Given the description of an element on the screen output the (x, y) to click on. 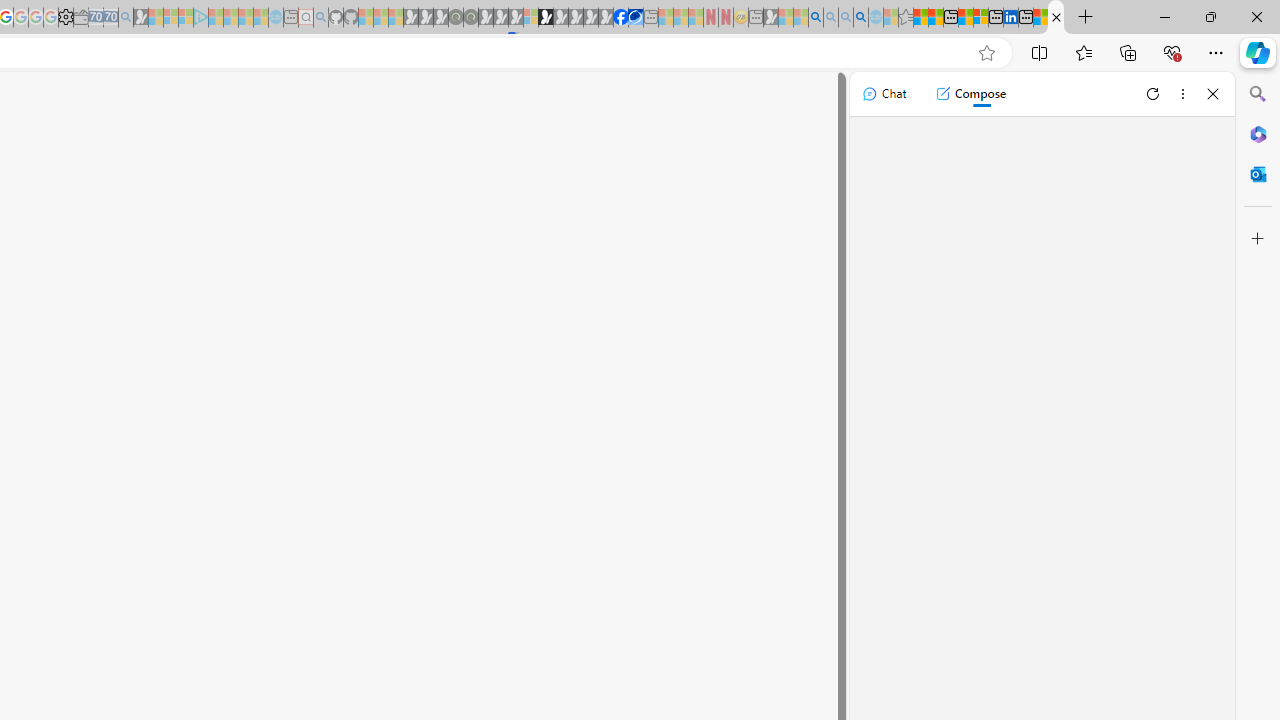
Nordace | Facebook (621, 17)
AQI & Health | AirNow.gov (635, 17)
